Given the description of an element on the screen output the (x, y) to click on. 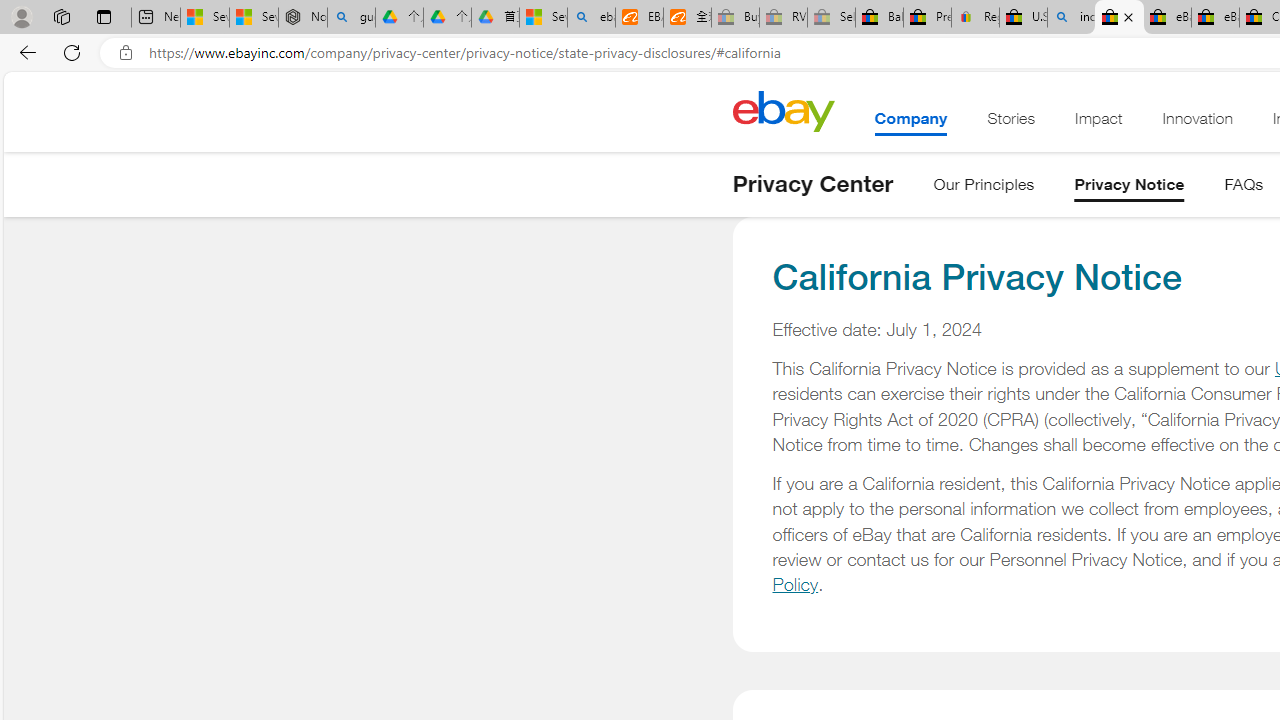
Register: Create a personal eBay account (975, 17)
Back (24, 52)
Baby Keepsakes & Announcements for sale | eBay (879, 17)
Close tab (1128, 16)
including - Search (1071, 17)
U.S. State Privacy Disclosures - eBay Inc. (1119, 17)
Sell worldwide with eBay - Sleeping (831, 17)
Workspaces (61, 16)
Press Room - eBay Inc. (927, 17)
New tab (155, 17)
